Given the description of an element on the screen output the (x, y) to click on. 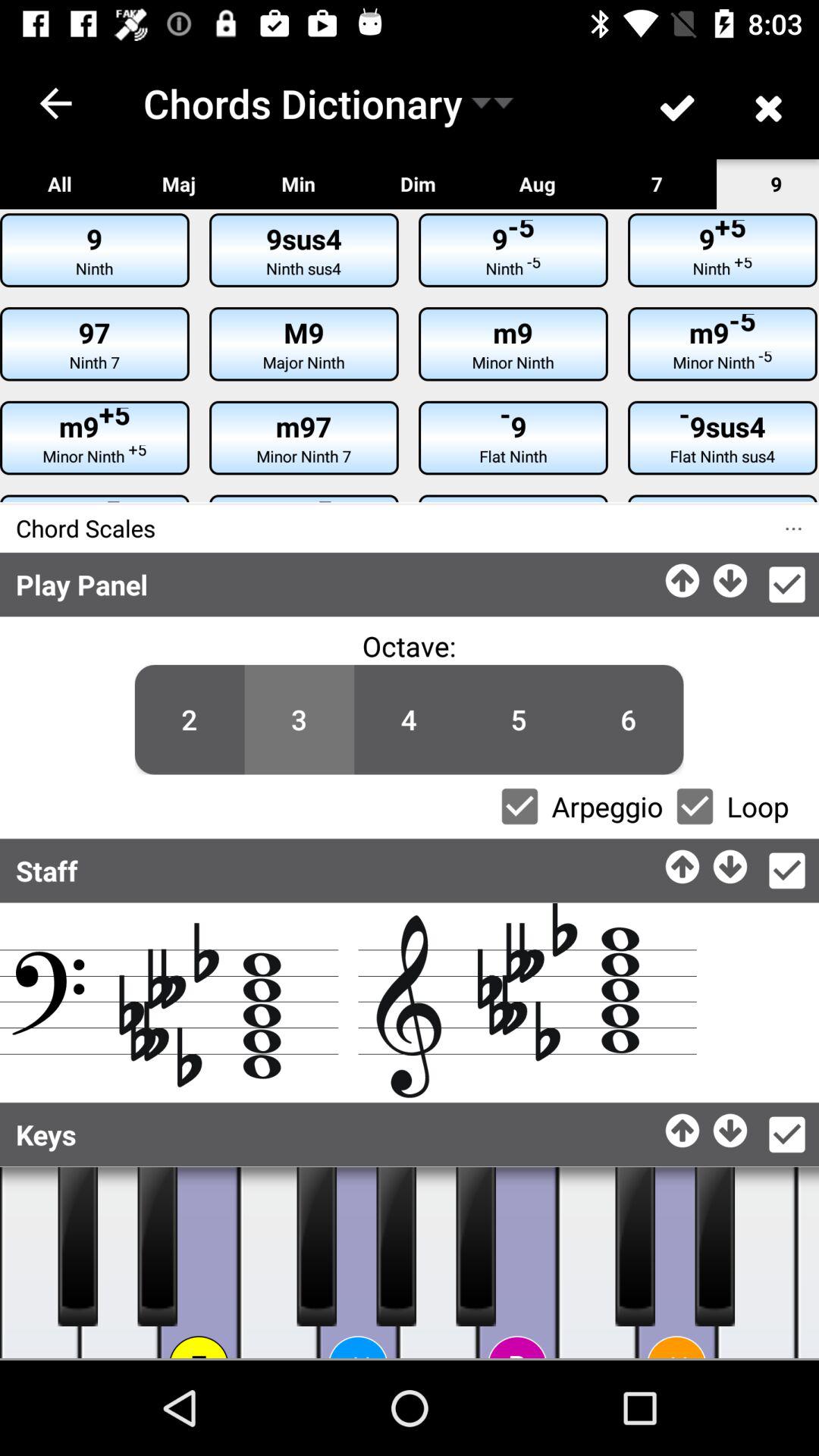
go to downarrow (731, 1126)
